Given the description of an element on the screen output the (x, y) to click on. 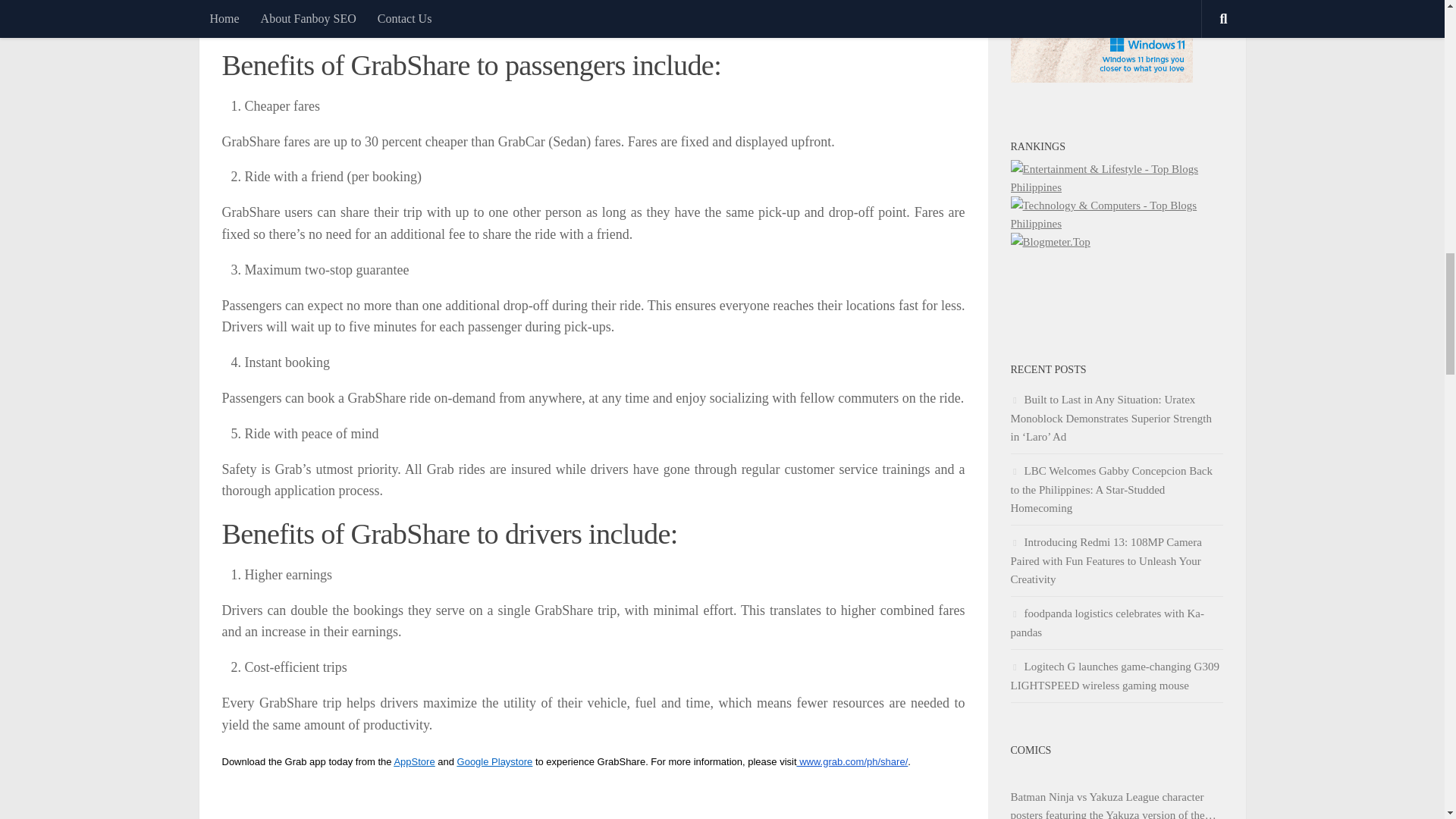
AppStore (413, 760)
Google Playstore (494, 760)
